Given the description of an element on the screen output the (x, y) to click on. 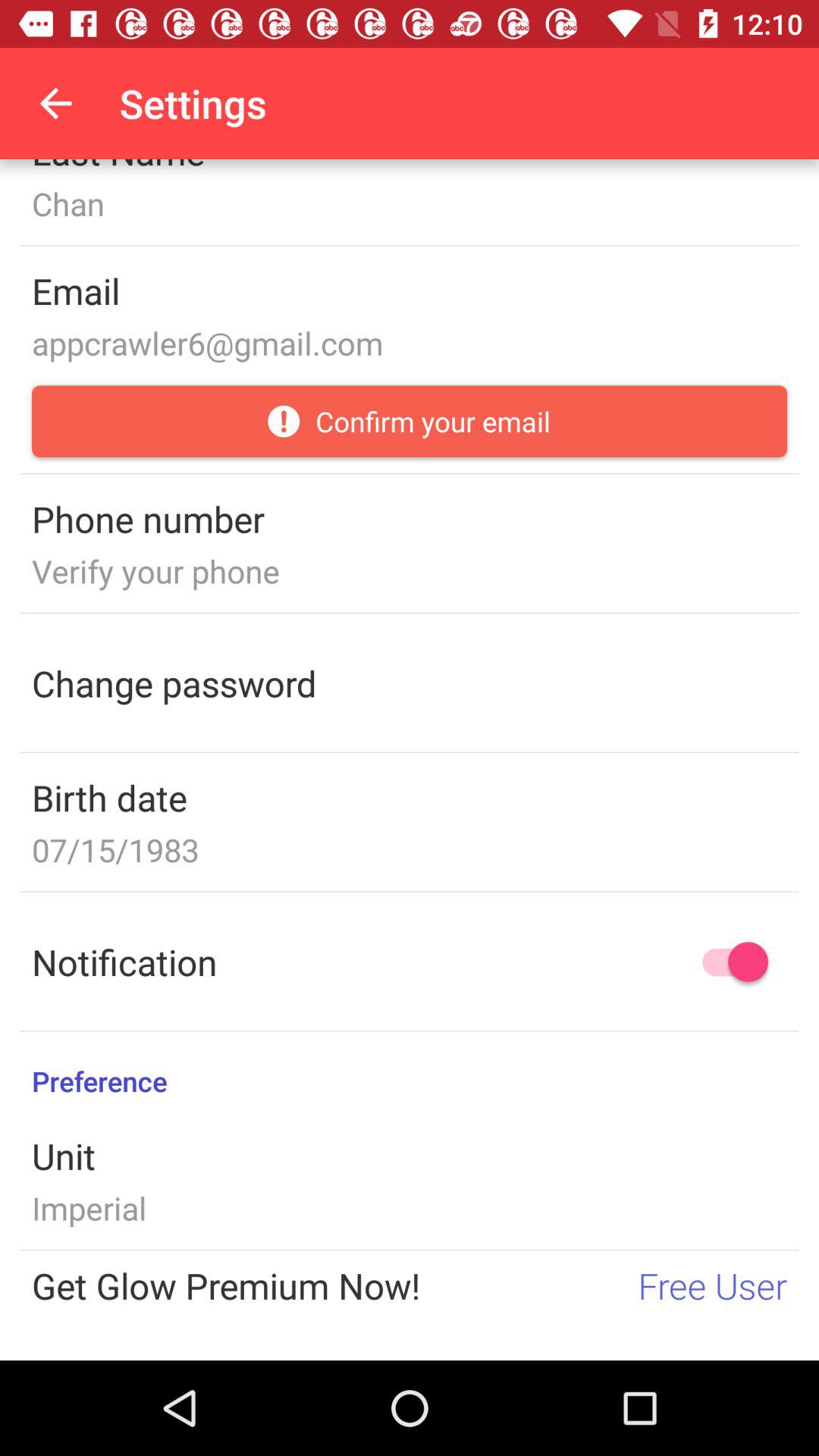
press icon next to the settings (55, 103)
